Given the description of an element on the screen output the (x, y) to click on. 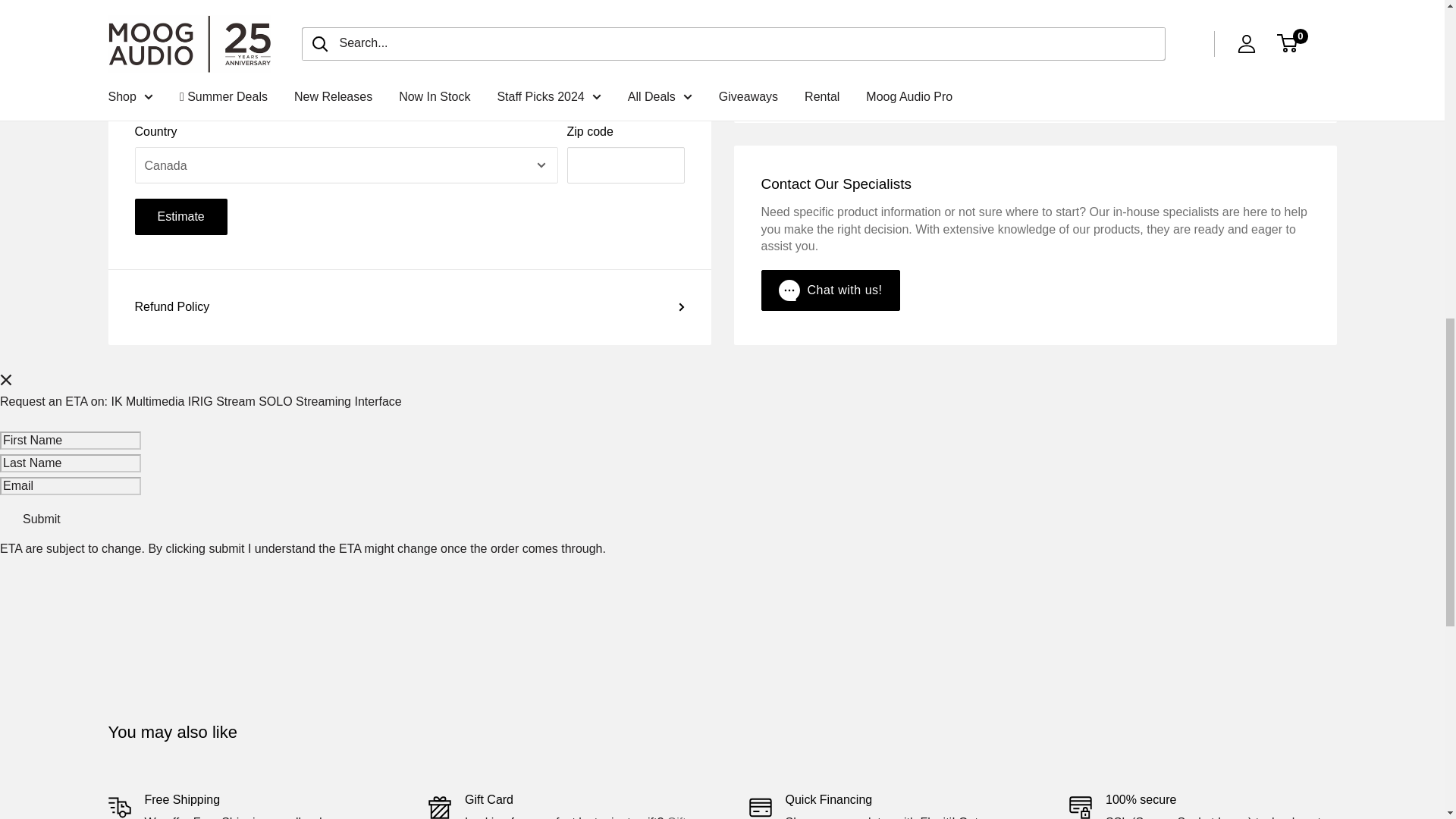
Gift Cards (574, 817)
